Given the description of an element on the screen output the (x, y) to click on. 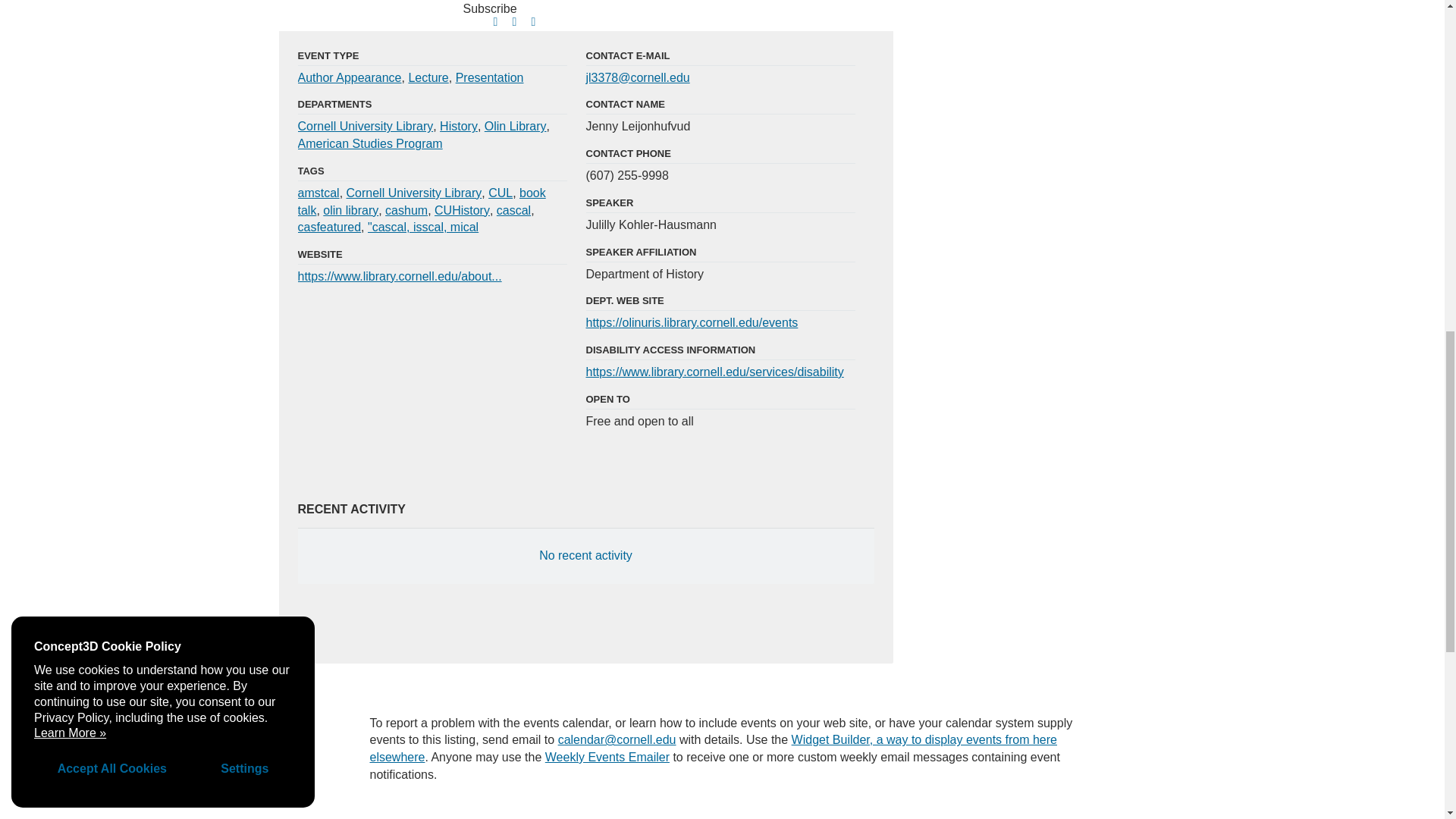
Save to Google Calendar (500, 23)
Save to Outlook (538, 23)
Save to iCal (519, 23)
Event Location Map (1040, 39)
